Given the description of an element on the screen output the (x, y) to click on. 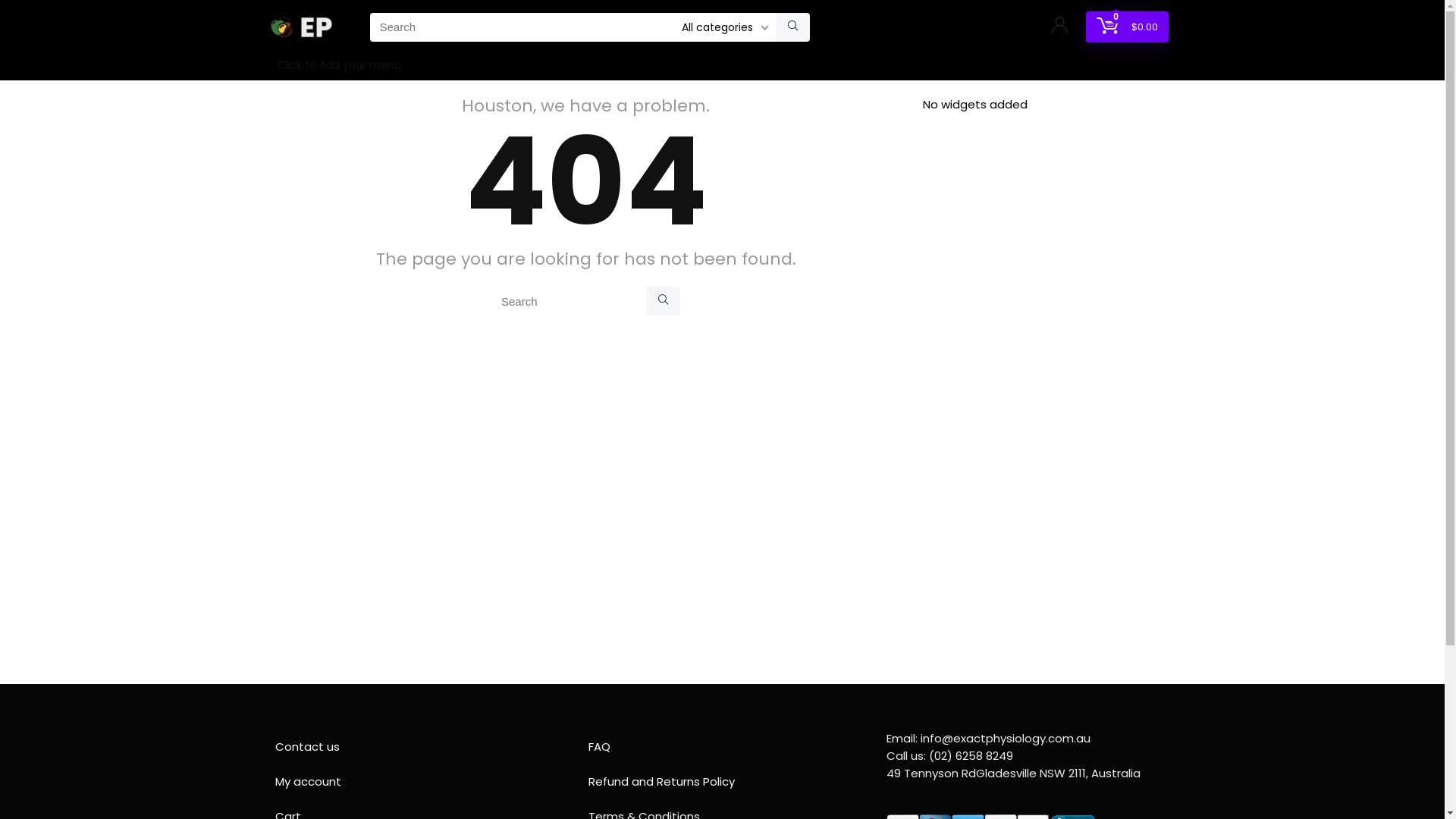
My account Element type: text (408, 781)
Click to Add your menu Element type: text (337, 66)
Contact us Element type: text (408, 746)
Refund and Returns Policy Element type: text (722, 781)
0
$0.00 Element type: text (1126, 26)
FAQ Element type: text (722, 746)
